Given the description of an element on the screen output the (x, y) to click on. 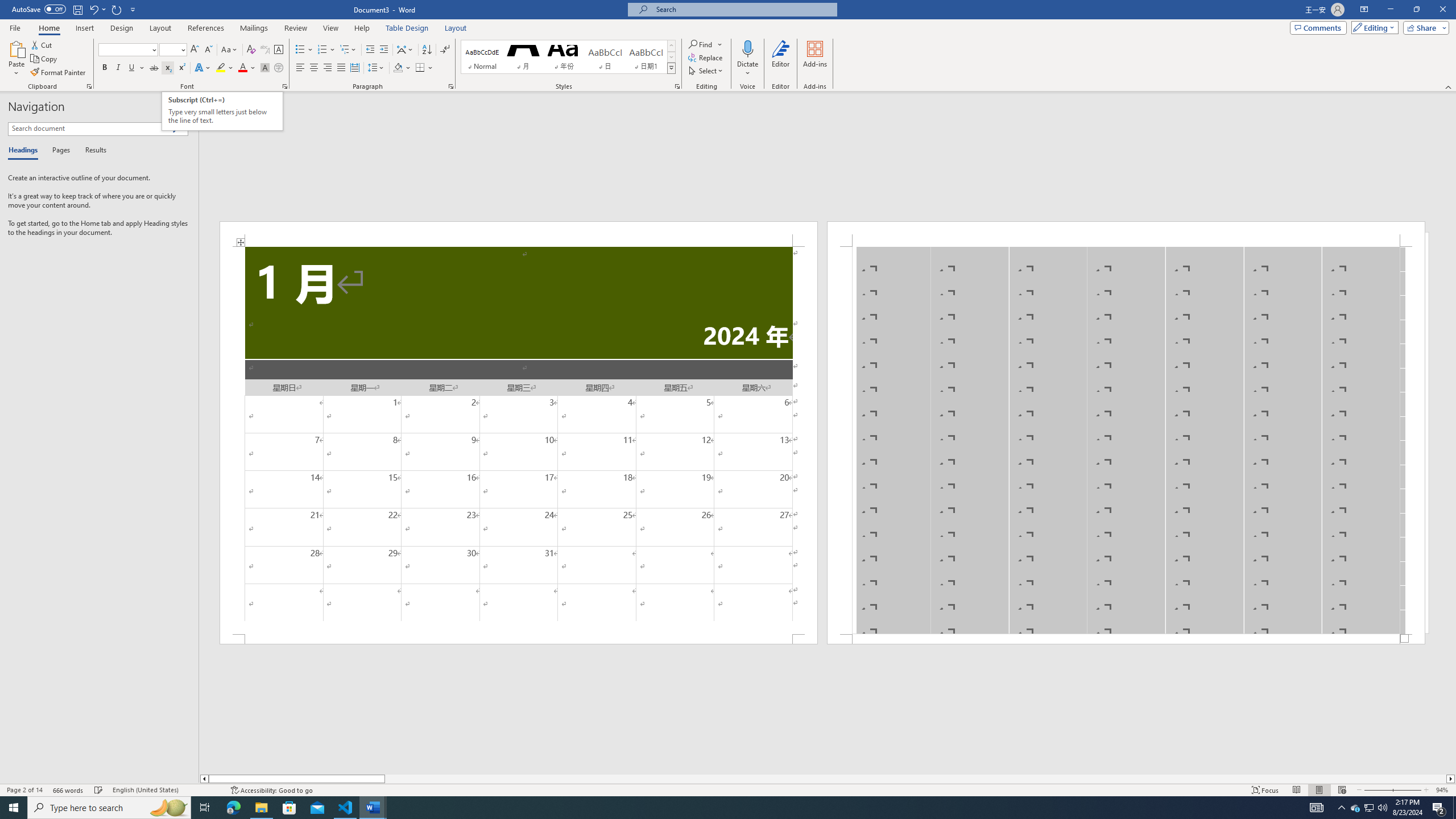
Replace... (705, 56)
Cut (42, 44)
Character Shading (264, 67)
Font Color RGB(255, 0, 0) (241, 67)
Page 1 content (518, 439)
Repeat Doc Close (117, 9)
Pages (59, 150)
Shading (402, 67)
